Given the description of an element on the screen output the (x, y) to click on. 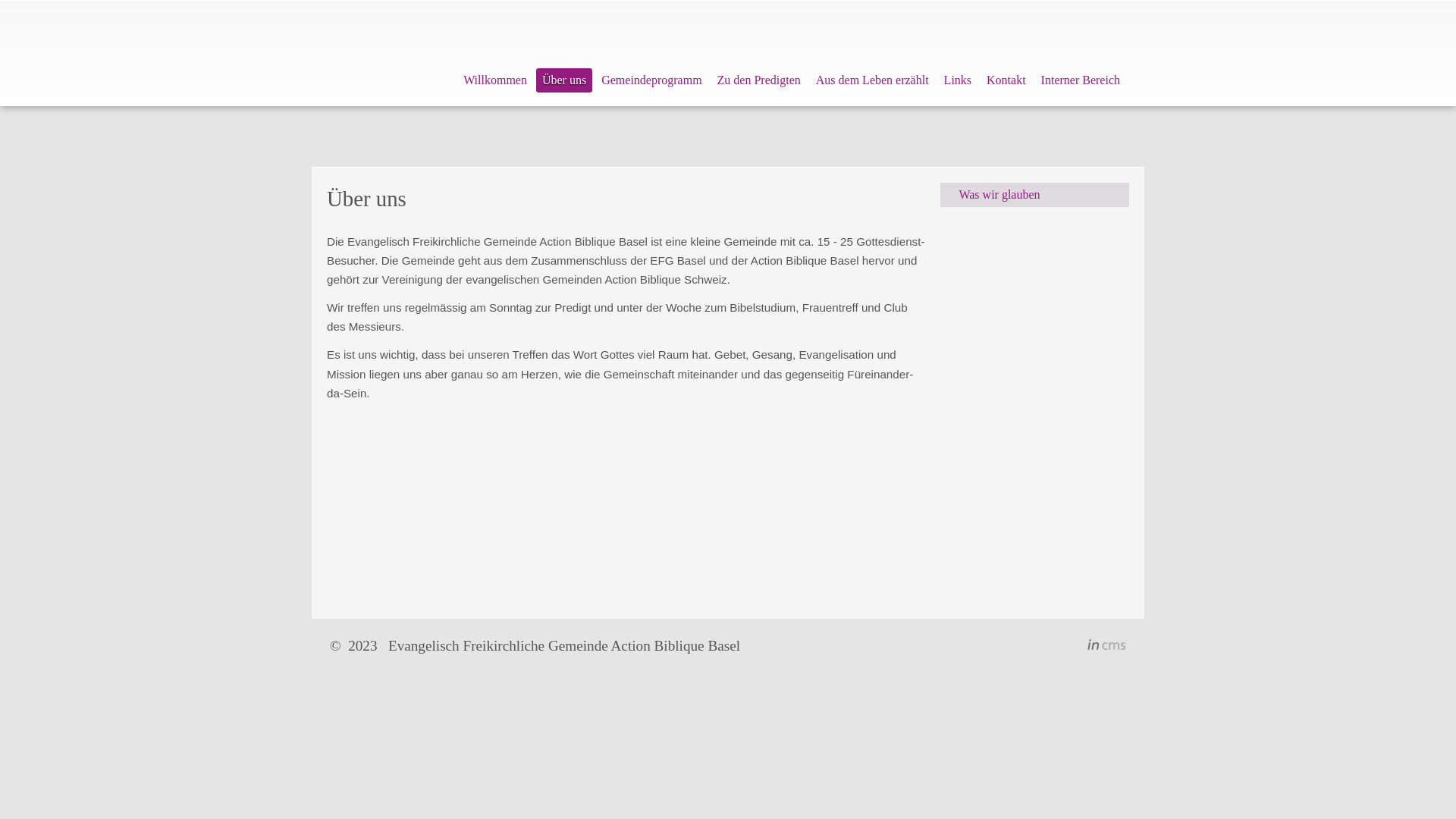
Zu den Predigten Element type: text (758, 80)
Kontakt Element type: text (1006, 80)
Interner Bereich Element type: text (1080, 80)
Was wir glauben Element type: text (1034, 194)
Willkommen Element type: text (495, 80)
Gemeindeprogramm Element type: text (651, 80)
Links Element type: text (957, 80)
